Given the description of an element on the screen output the (x, y) to click on. 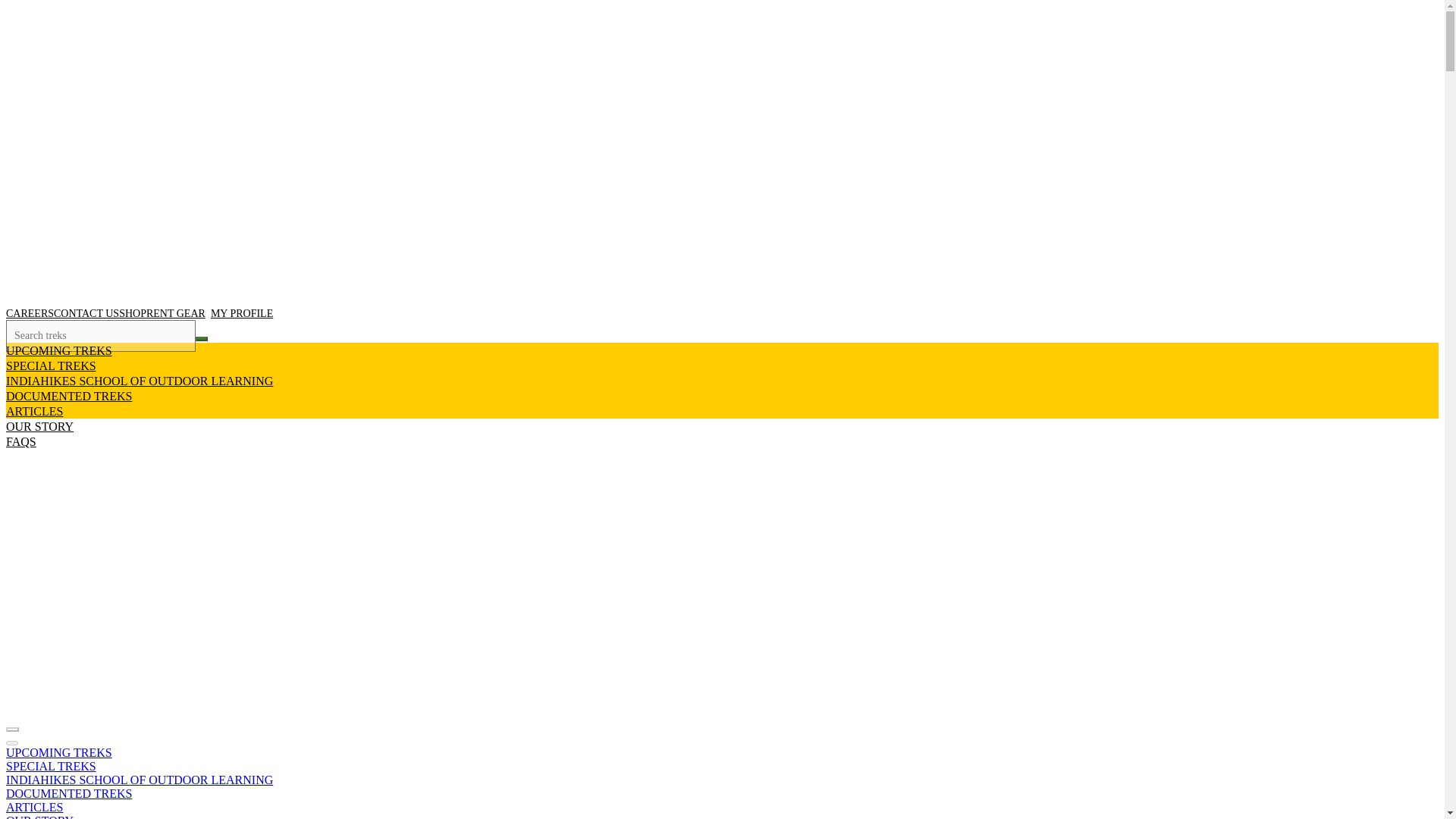
UPCOMING TREKS (58, 752)
CONTACT US (86, 313)
CAREERS (29, 313)
SHOP (133, 313)
RENT GEAR (176, 313)
MY PROFILE (239, 313)
